Given the description of an element on the screen output the (x, y) to click on. 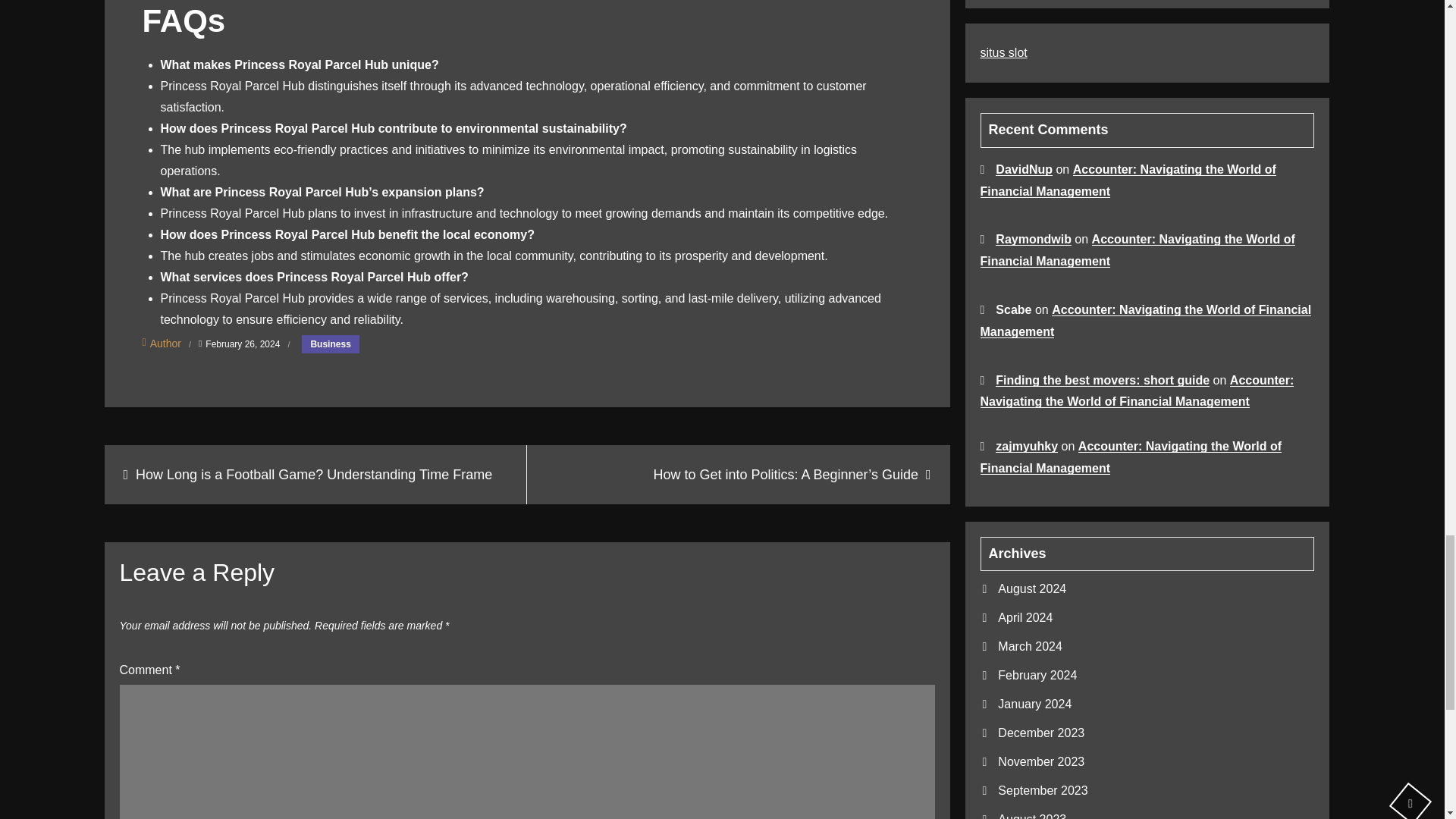
Business (329, 343)
How Long is a Football Game? Understanding Time Frame (315, 474)
Author (161, 343)
